Given the description of an element on the screen output the (x, y) to click on. 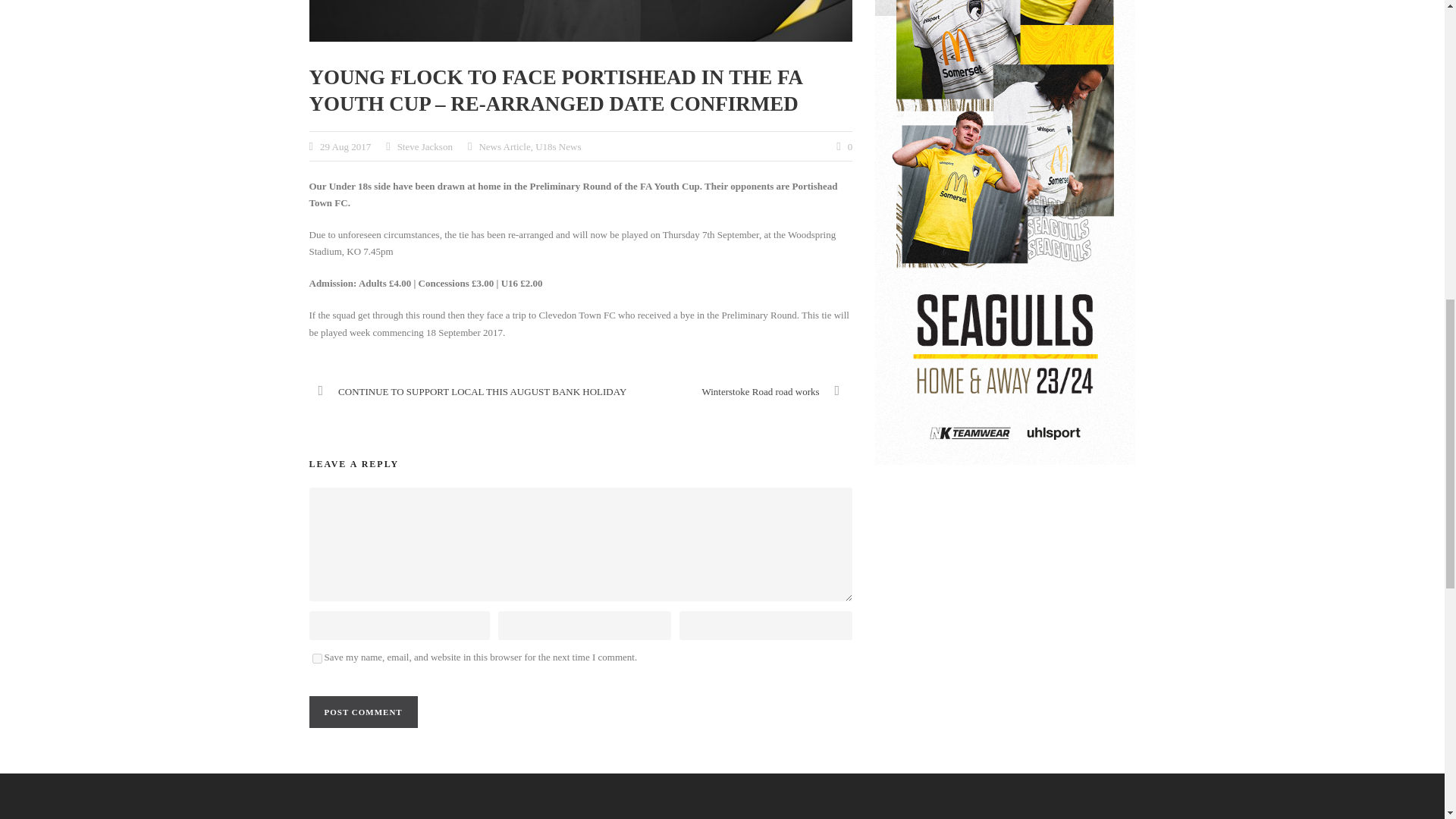
Posts by Steve Jackson (424, 146)
yes (317, 658)
Post Comment (362, 712)
new-date-fa-youth-cup-v-portishead (580, 20)
